Given the description of an element on the screen output the (x, y) to click on. 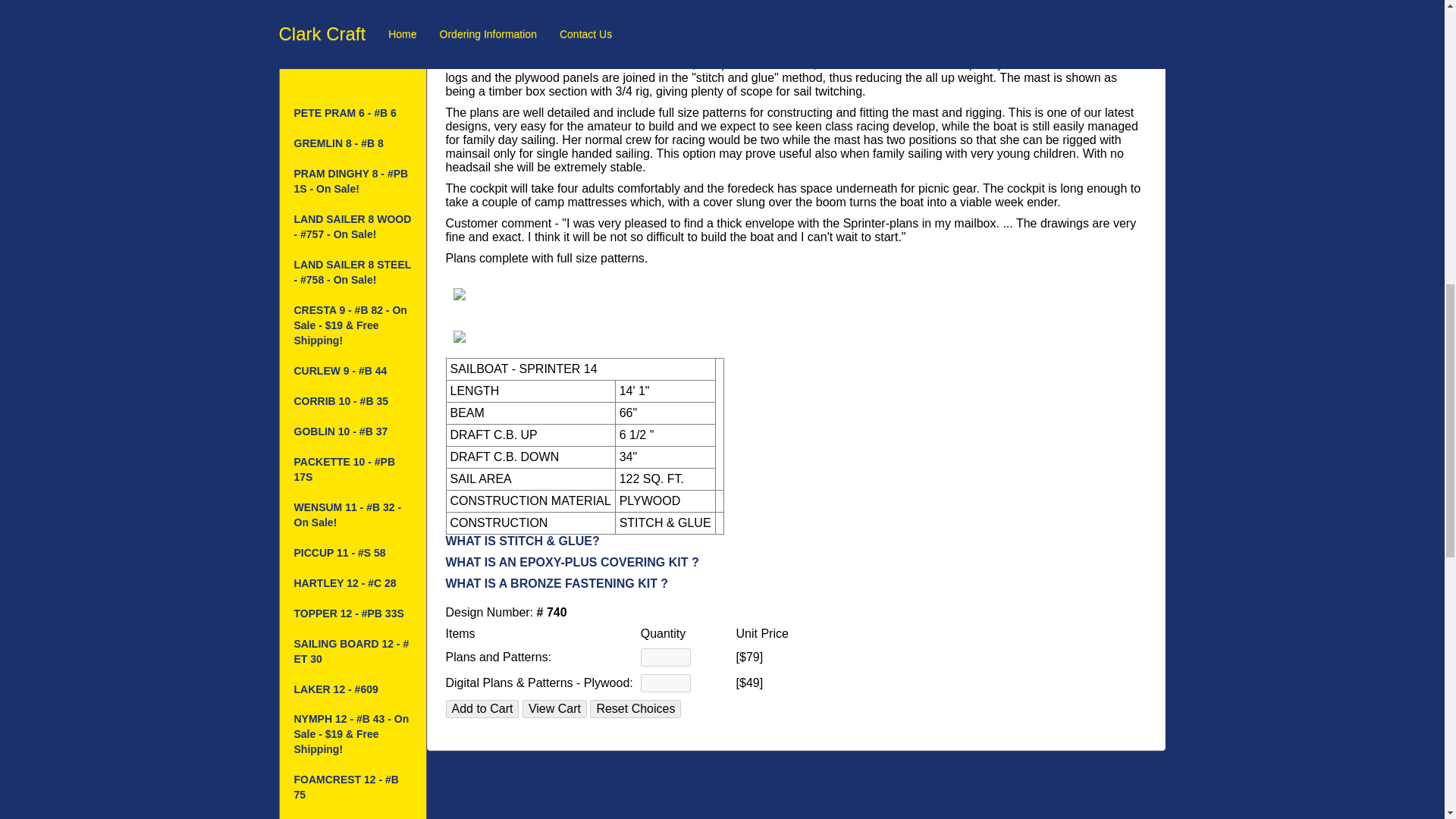
View Cart (554, 709)
Add to Cart (482, 709)
Reset Choices (635, 709)
